Given the description of an element on the screen output the (x, y) to click on. 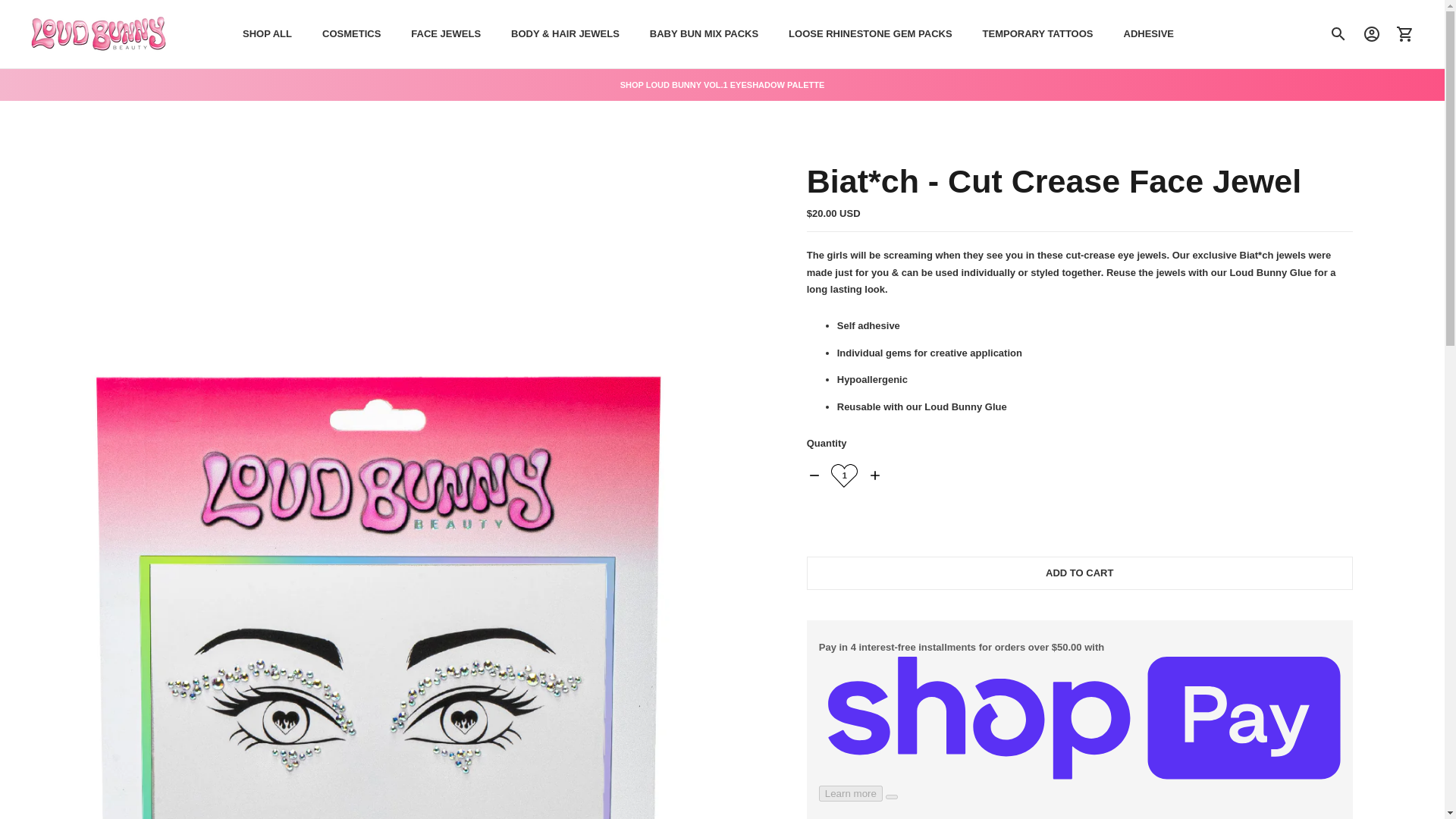
Cart (1405, 33)
FACE JEWELS (445, 33)
Search (1338, 33)
ADHESIVE (1148, 33)
Account (1372, 33)
1 (844, 475)
LOOSE RHINESTONE GEM PACKS (870, 33)
SHOP LOUD BUNNY VOL.1 EYESHADOW PALETTE (722, 84)
SHOP ALL (267, 33)
TEMPORARY TATTOOS (1037, 33)
Decrease (814, 475)
COSMETICS (350, 33)
Increase (874, 475)
BABY BUN MIX PACKS (703, 33)
